Given the description of an element on the screen output the (x, y) to click on. 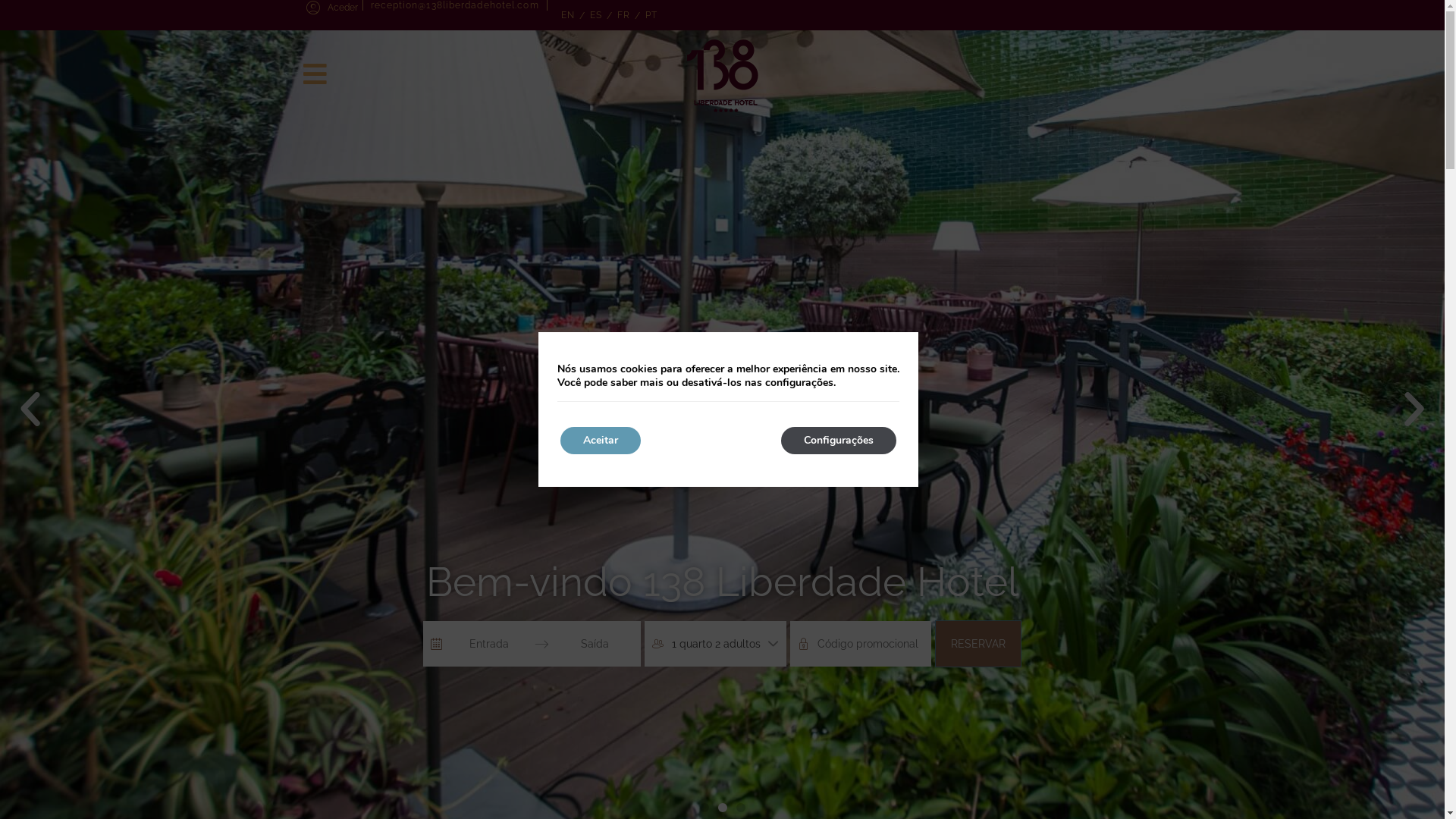
ES Element type: text (595, 15)
reception@138liberdadehotel.com Element type: text (454, 5)
Aceitar Element type: text (599, 440)
Aceder Element type: text (331, 7)
FR Element type: text (623, 15)
RESERVAR Element type: text (978, 643)
EN Element type: text (567, 15)
PT Element type: text (651, 15)
